Given the description of an element on the screen output the (x, y) to click on. 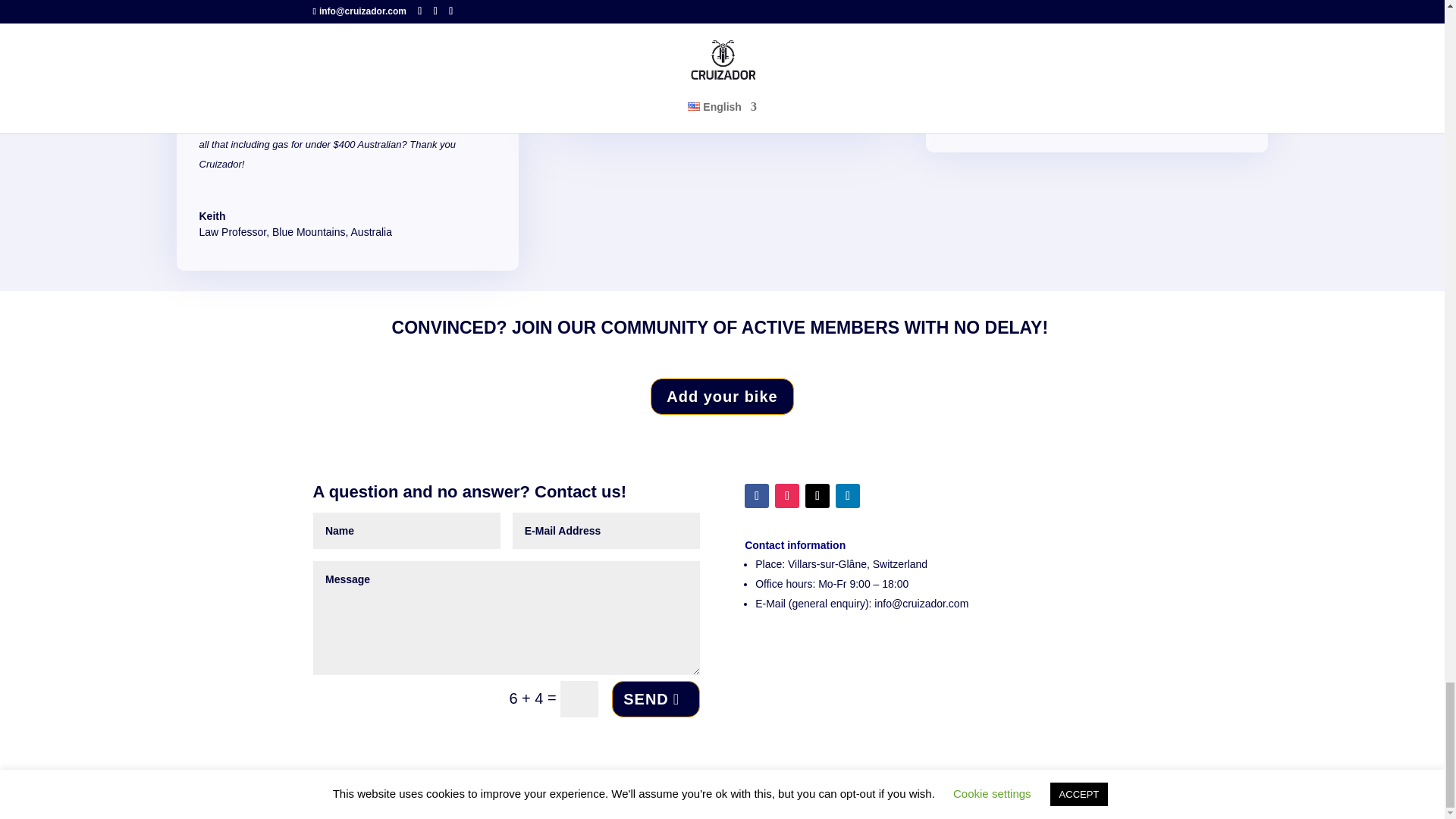
Follow on Instagram (786, 495)
SEND (655, 698)
Follow on X (817, 495)
Follow on Facebook (756, 495)
Follow on LinkedIn (847, 495)
Add your bike (721, 396)
